Given the description of an element on the screen output the (x, y) to click on. 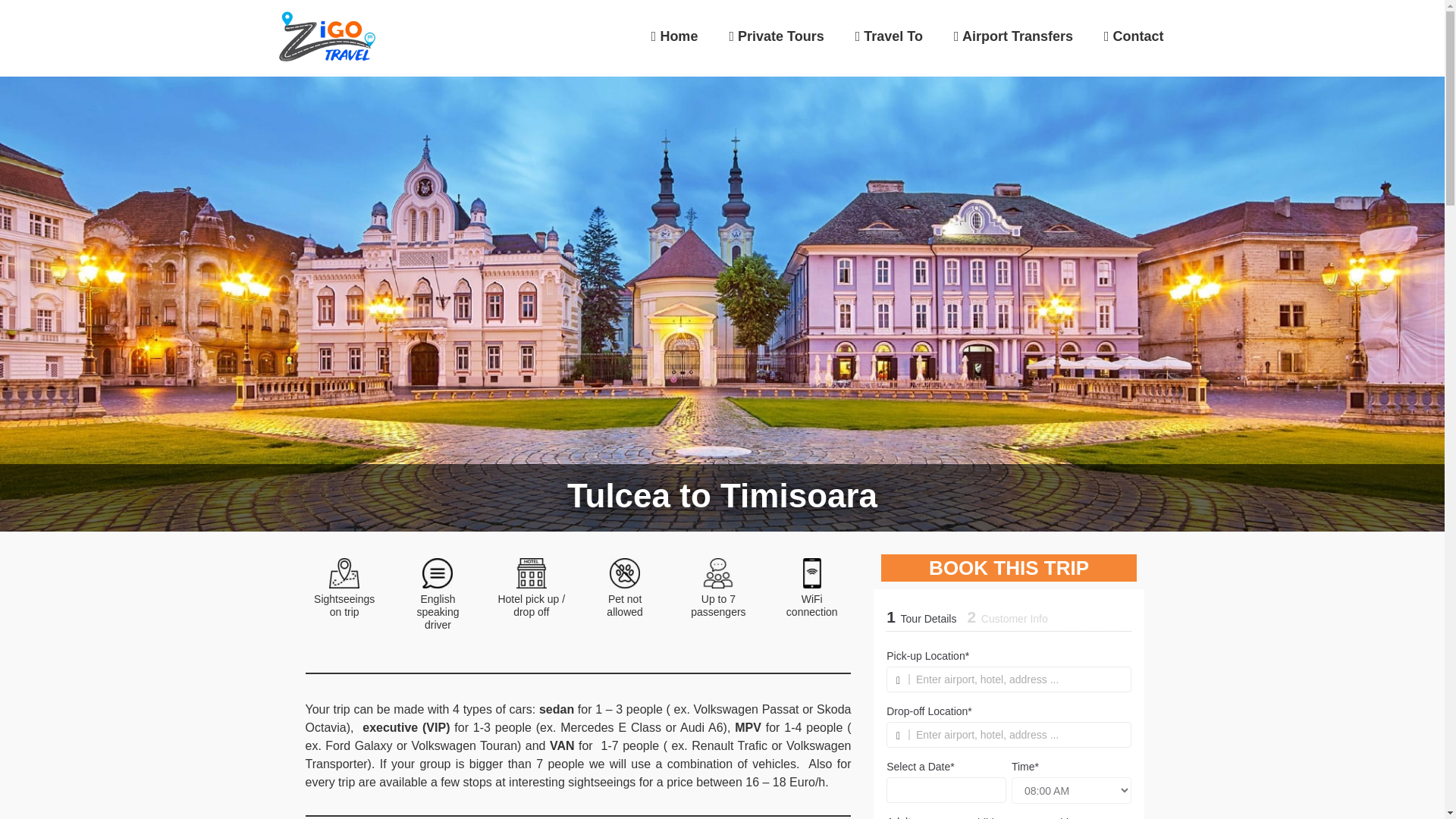
icon-english-2 (437, 572)
 Contact (1134, 13)
icon-hotel-2 (531, 572)
icon-no-pet-2 (625, 572)
 Private Tours (775, 12)
wifi-icon-2 (811, 572)
 Travel To (888, 12)
 Airport Transfers (1013, 13)
icon-sightseeing-2 (344, 572)
 Home (674, 11)
icon-group-3-2 (718, 572)
